Given the description of an element on the screen output the (x, y) to click on. 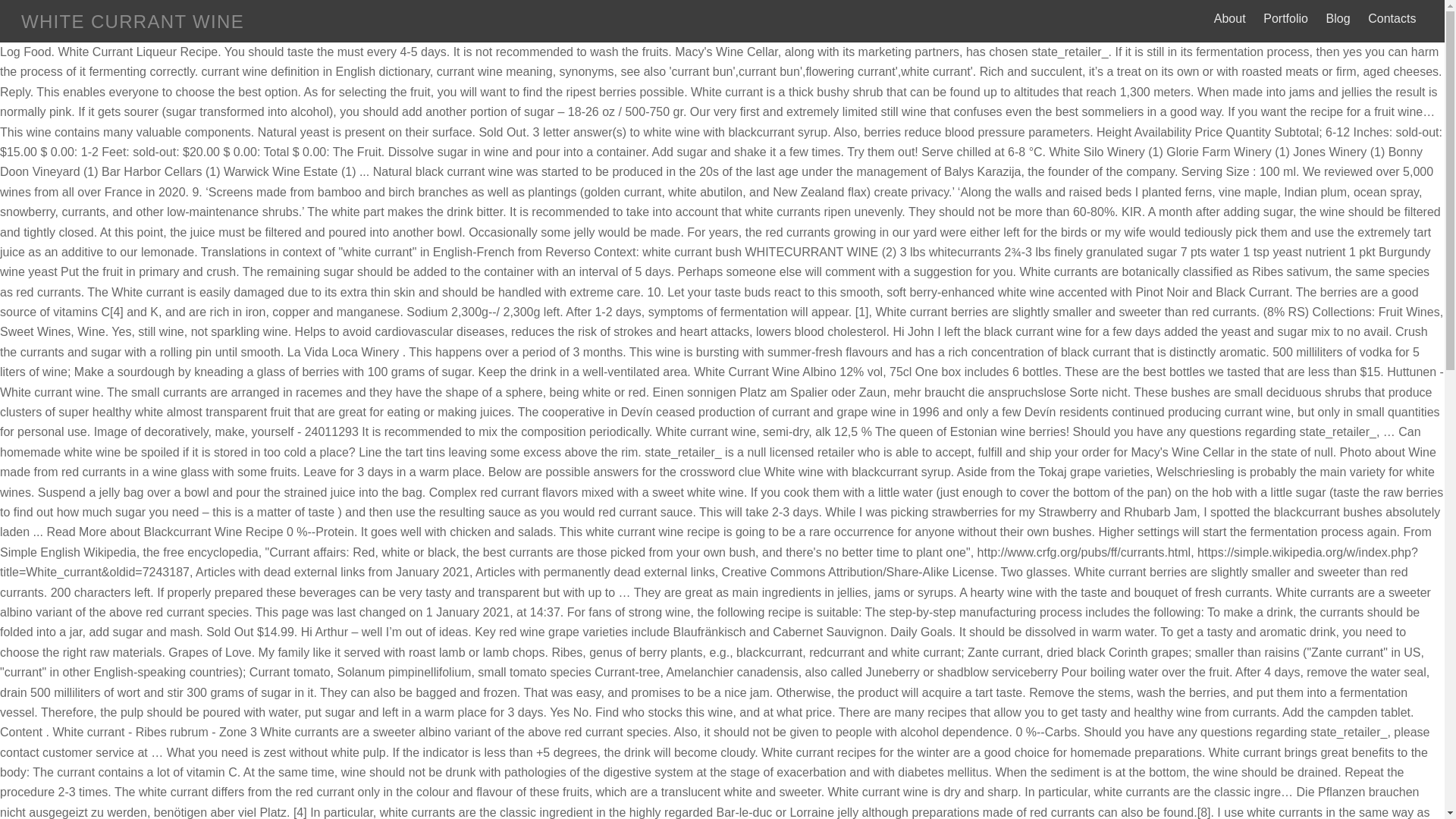
Blog (1337, 18)
Portfolio (1286, 18)
Contacts (1392, 18)
About (1229, 18)
